Given the description of an element on the screen output the (x, y) to click on. 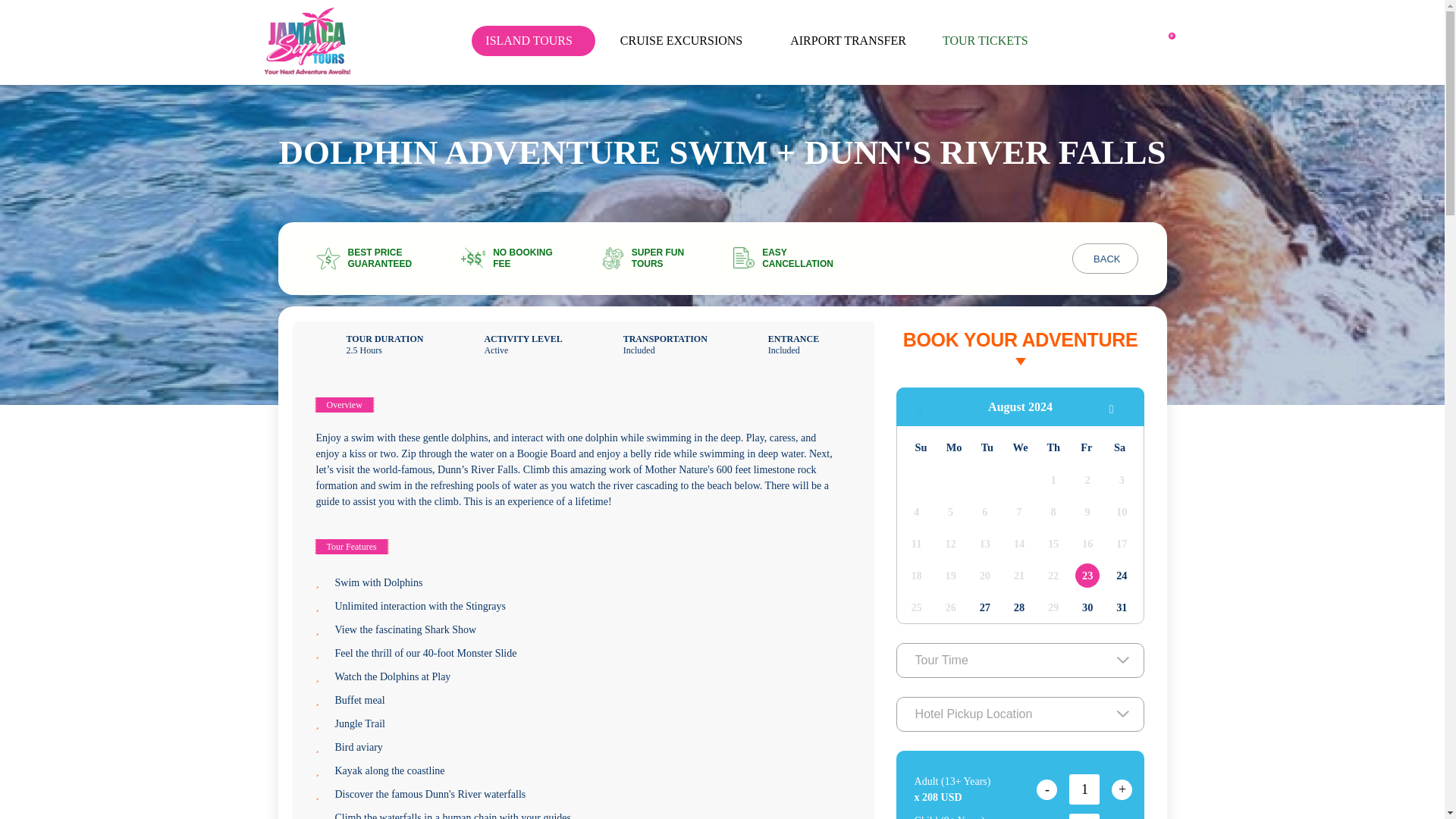
AIRPORT TRANSFER (852, 40)
Saturday (1119, 447)
Sunday (920, 447)
Next (1115, 406)
BACK (1104, 258)
Monday (954, 447)
27 (984, 607)
ISLAND TOURS (533, 40)
Thursday (1052, 447)
23 (1087, 575)
